Given the description of an element on the screen output the (x, y) to click on. 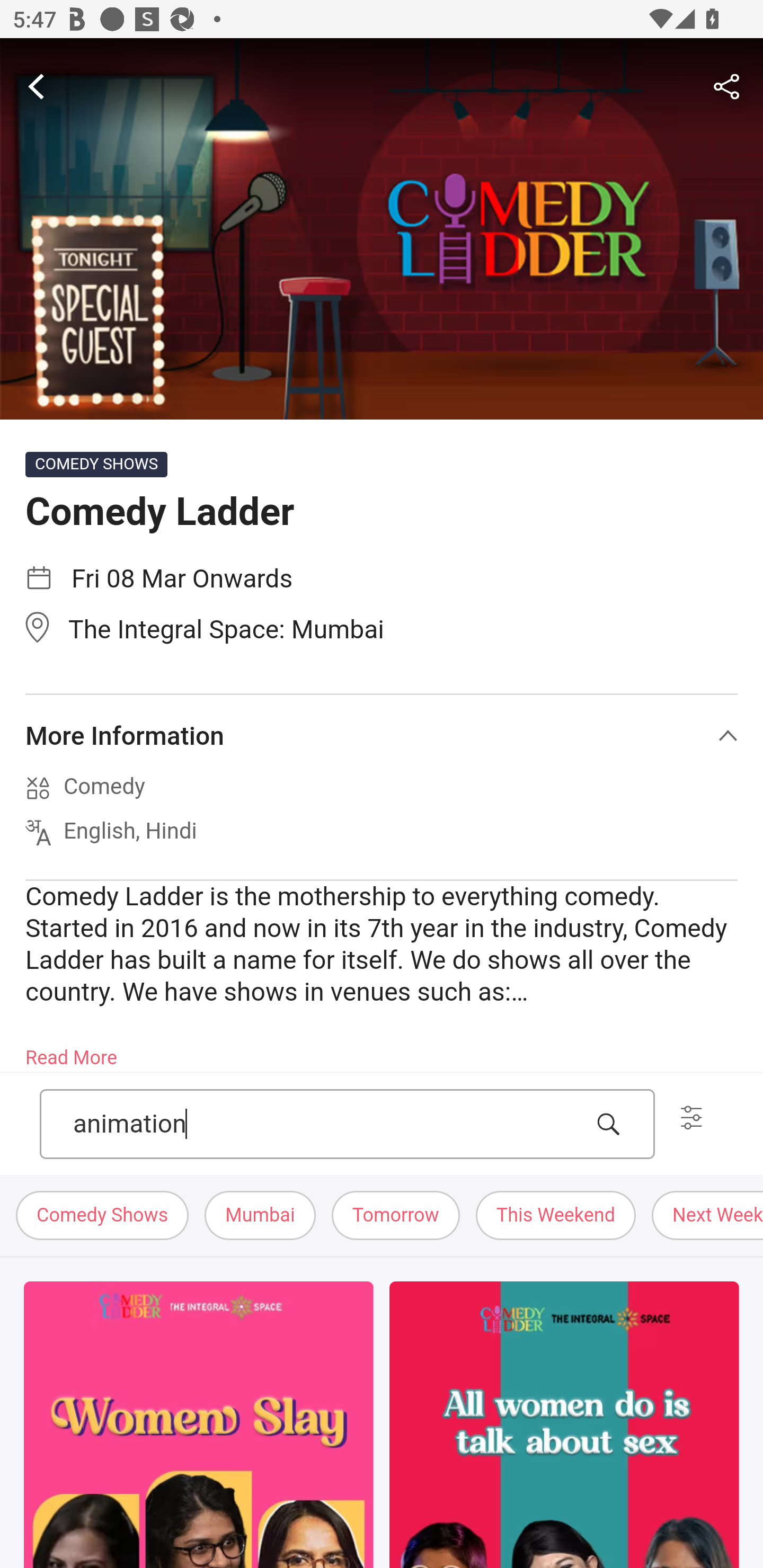
More Information (381, 735)
Read More (71, 1051)
animation (327, 1124)
Comedy Shows (102, 1215)
Mumbai (259, 1215)
Tomorrow (395, 1215)
This Weekend (556, 1215)
